Given the description of an element on the screen output the (x, y) to click on. 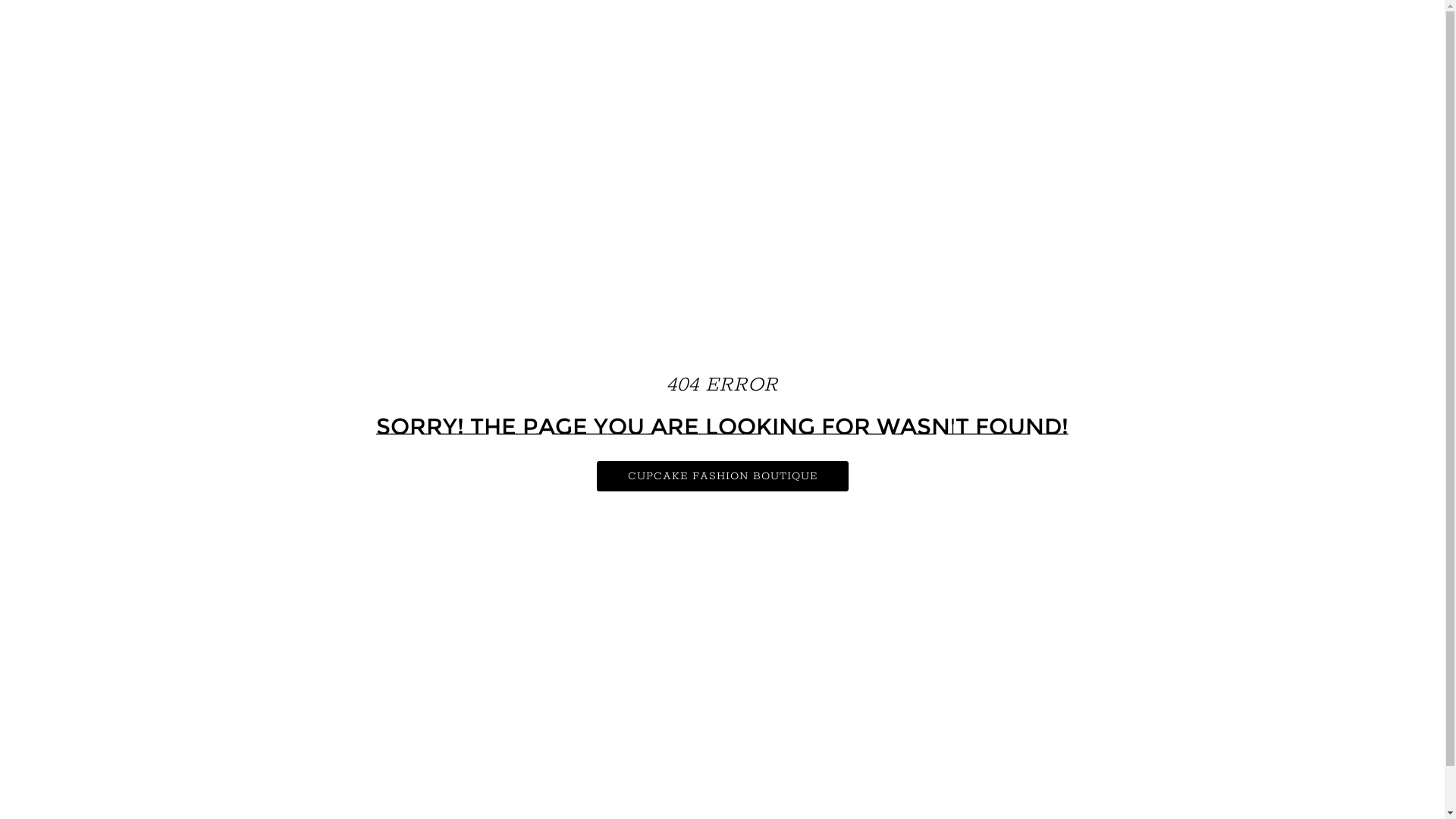
CUPCAKE FASHION BOUTIQUE Element type: text (721, 476)
